Given the description of an element on the screen output the (x, y) to click on. 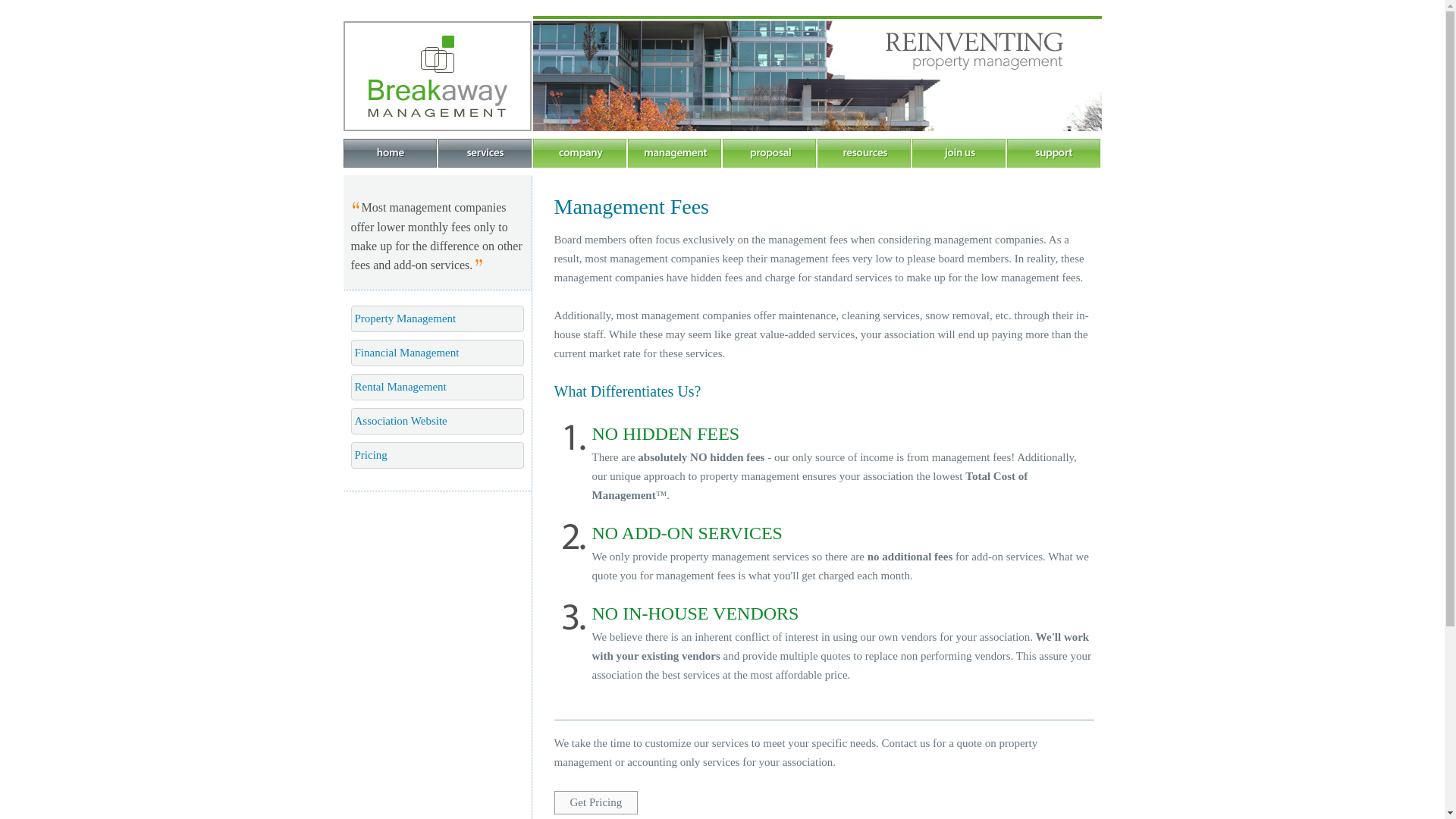
Get Pricing (595, 802)
Association Website (436, 420)
Property Management (436, 318)
Pricing (436, 455)
Get Pricing (595, 802)
Financial Management (436, 352)
Rental Management (436, 386)
